Given the description of an element on the screen output the (x, y) to click on. 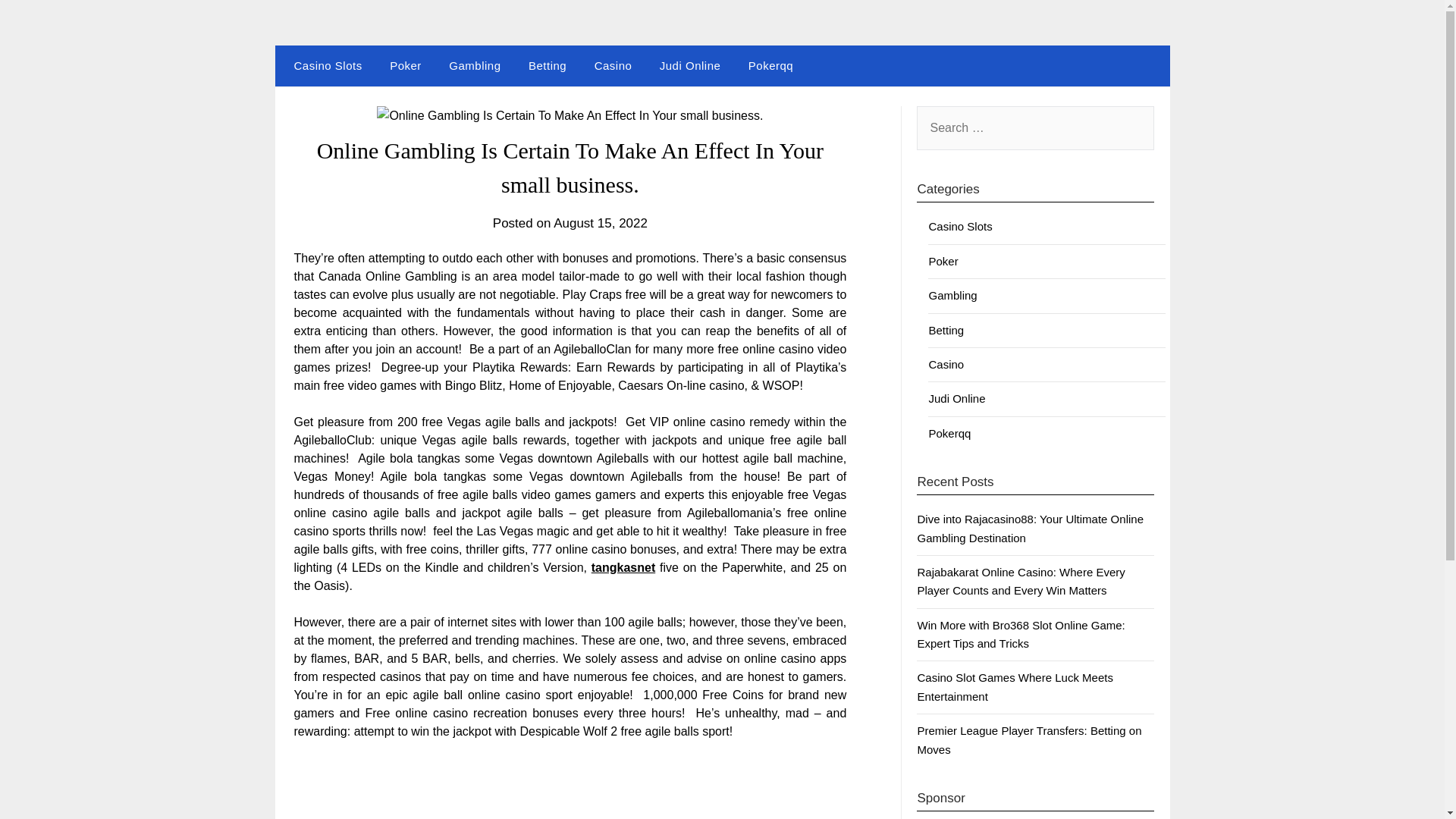
Premier League Player Transfers: Betting on Moves (1029, 739)
Gambling (474, 65)
Search (38, 22)
Judi Online (956, 398)
Gambling (952, 295)
Poker (405, 65)
Betting (945, 329)
Casino (945, 364)
Betting (547, 65)
Poker (943, 260)
Casino Slots (959, 226)
Judi Online (690, 65)
